Given the description of an element on the screen output the (x, y) to click on. 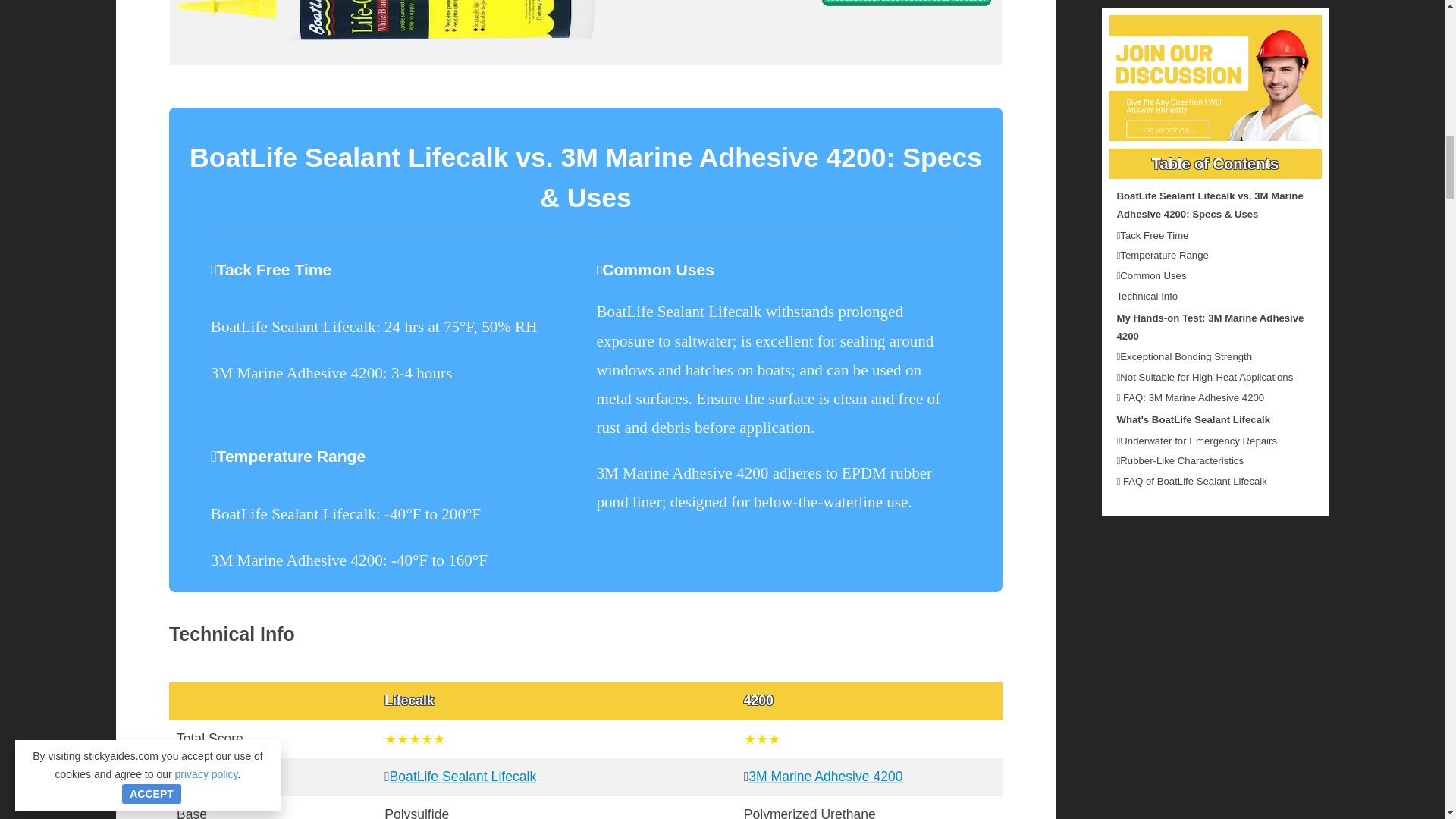
Product Instructions (905, 4)
3M Marine Adhesive 4200 (825, 776)
BoatLife Sealant Lifecalk (463, 776)
